Given the description of an element on the screen output the (x, y) to click on. 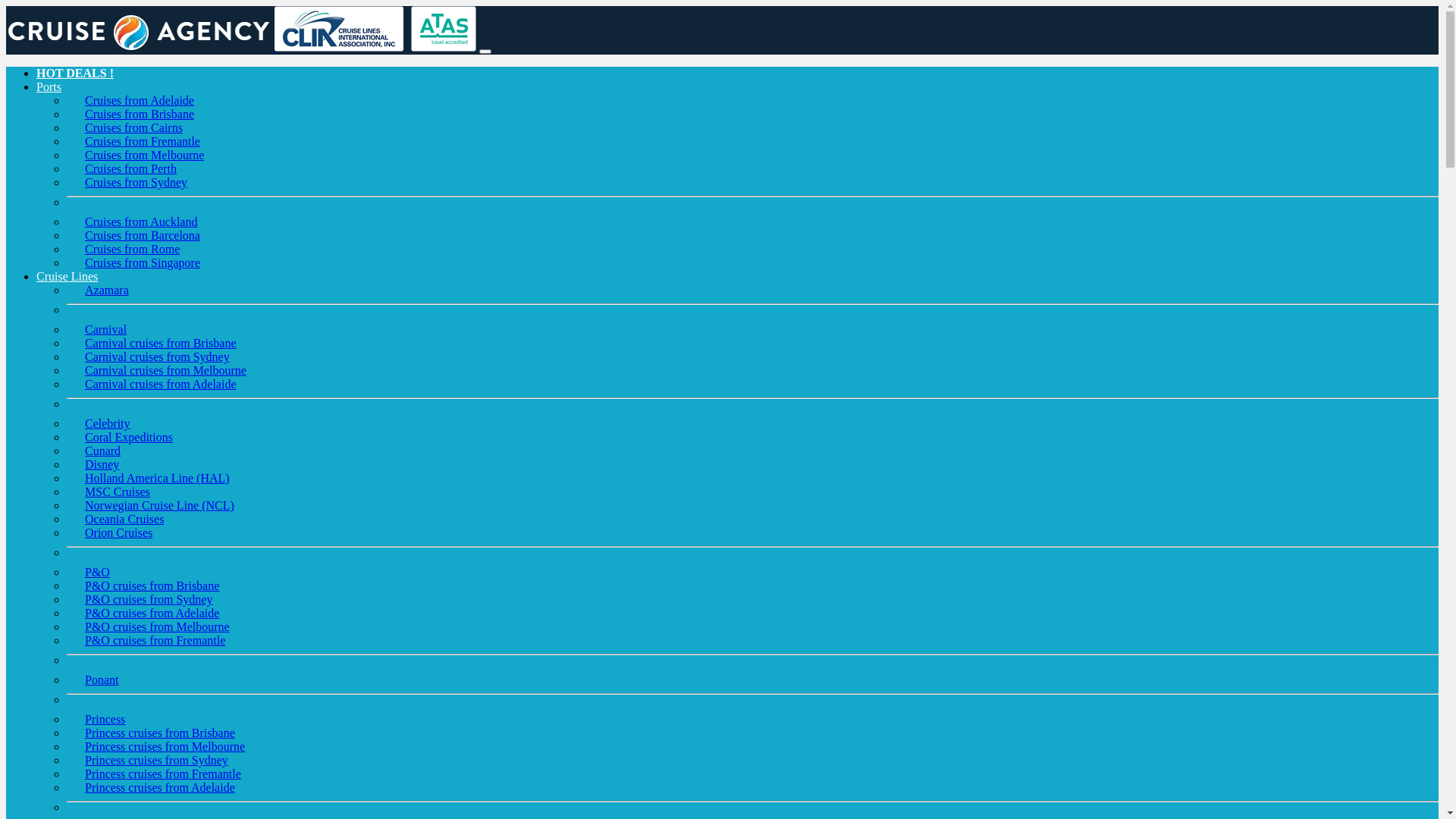
Carnival cruises from Brisbane Element type: text (160, 342)
P&O cruises from Sydney Element type: text (148, 598)
Cunard Element type: text (102, 450)
Azamara Element type: text (106, 289)
Princess cruises from Sydney Element type: text (156, 759)
Princess cruises from Melbourne Element type: text (164, 746)
Coral Expeditions Element type: text (128, 436)
Cruises from Adelaide Element type: text (139, 99)
Princess cruises from Adelaide Element type: text (159, 787)
Princess cruises from Fremantle Element type: text (162, 773)
Celebrity Element type: text (107, 423)
Carnival cruises from Melbourne Element type: text (165, 369)
Cruises from Brisbane Element type: text (139, 113)
Cruises from Perth Element type: text (130, 168)
Cruise Lines Element type: text (66, 275)
Carnival cruises from Sydney Element type: text (156, 356)
P&O cruises from Fremantle Element type: text (154, 639)
Ponant Element type: text (101, 679)
Cruises from Sydney Element type: text (135, 181)
HOT DEALS ! Element type: text (74, 72)
Ports Element type: text (48, 86)
P&O cruises from Adelaide Element type: text (151, 612)
Cruises from Barcelona Element type: text (142, 234)
Cruises from Fremantle Element type: text (142, 140)
Carnival cruises from Adelaide Element type: text (160, 383)
Norwegian Cruise Line (NCL) Element type: text (159, 504)
MSC Cruises Element type: text (117, 491)
Princess Element type: text (104, 718)
Orion Cruises Element type: text (118, 532)
Cruises from Melbourne Element type: text (144, 154)
Carnival Element type: text (105, 329)
Cruises from Rome Element type: text (131, 248)
P&O cruises from Melbourne Element type: text (156, 626)
Cruises from Auckland Element type: text (140, 221)
Cruises from Cairns Element type: text (133, 127)
P&O Element type: text (97, 571)
Cruises from Singapore Element type: text (142, 262)
Oceania Cruises Element type: text (124, 518)
Disney Element type: text (101, 463)
P&O cruises from Brisbane Element type: text (151, 585)
Holland America Line (HAL) Element type: text (156, 477)
Princess cruises from Brisbane Element type: text (159, 732)
